Given the description of an element on the screen output the (x, y) to click on. 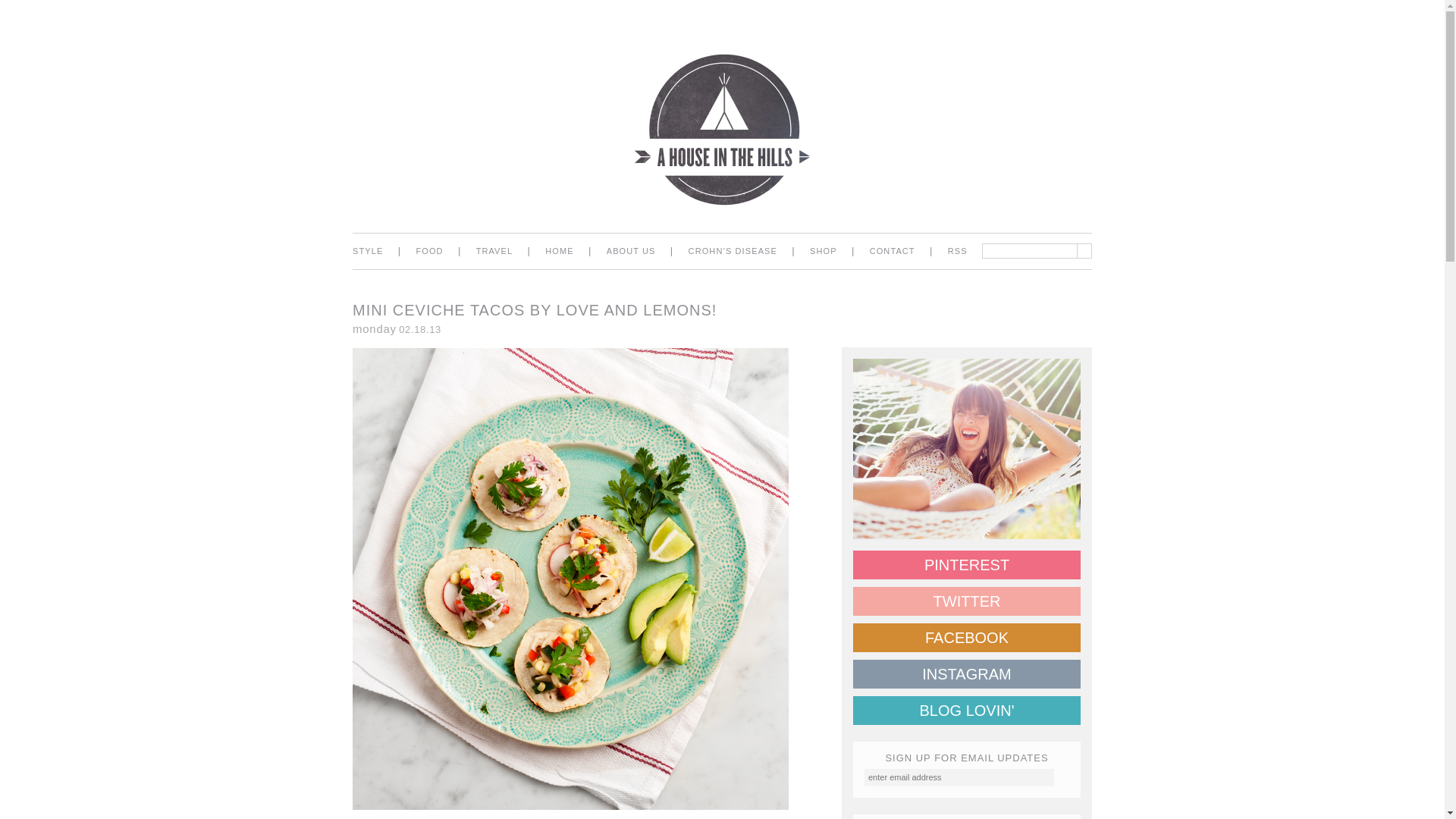
TWITTER (966, 601)
Submit (1061, 775)
ABOUT US (631, 251)
BLOG LOVIN' (966, 710)
MINI CEVICHE TACOS BY LOVE AND LEMONS! (534, 310)
FACEBOOK (966, 637)
search (1083, 250)
INSTAGRAM (966, 674)
PINTEREST (966, 564)
mini ceviche tacos by love and lemons! (534, 310)
search (1083, 250)
TRAVEL (494, 251)
CONTACT (892, 251)
Submit (1061, 775)
